Given the description of an element on the screen output the (x, y) to click on. 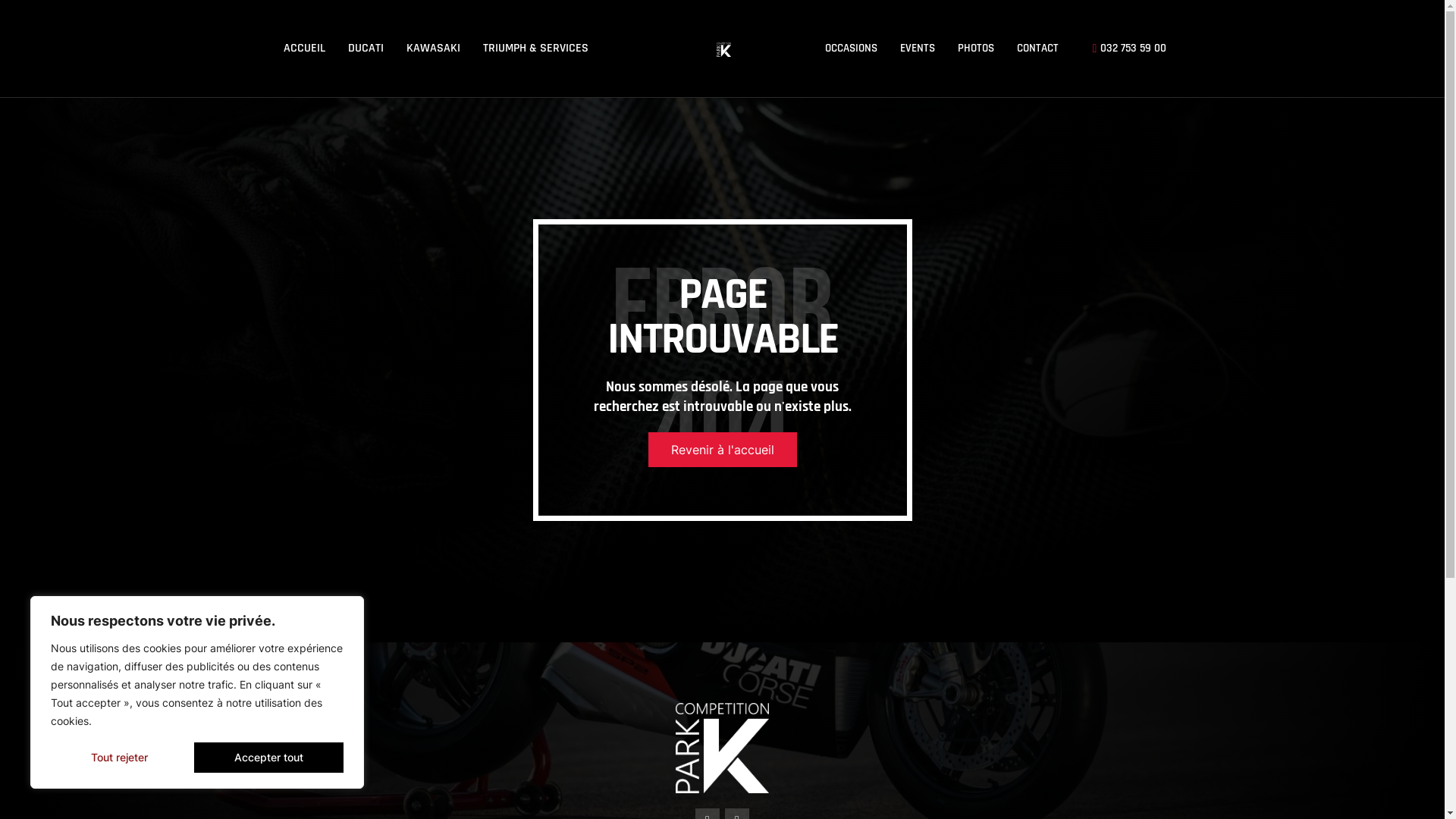
Accepter tout Element type: text (268, 757)
032 753 59 00 Element type: text (1123, 48)
KAWASAKI Element type: text (432, 48)
ACCUEIL Element type: text (303, 48)
TRIUMPH & SERVICES Element type: text (535, 48)
PHOTOS Element type: text (975, 48)
CONTACT Element type: text (1037, 48)
DUCATI Element type: text (365, 48)
EVENTS Element type: text (917, 48)
OCCASIONS Element type: text (851, 48)
Logo_ ompetitionpark Element type: hover (723, 49)
Tout rejeter Element type: text (119, 757)
